Given the description of an element on the screen output the (x, y) to click on. 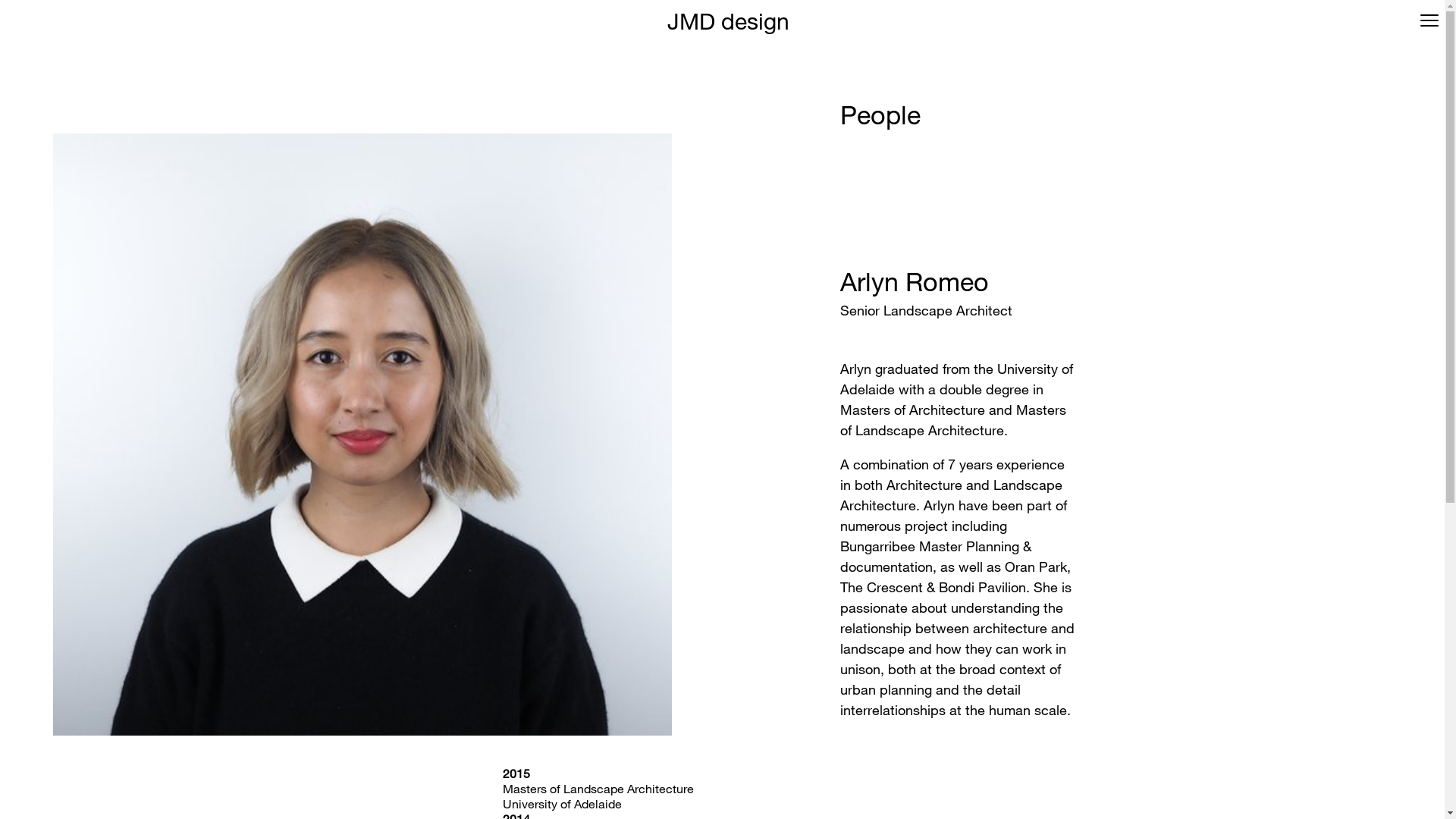
People Element type: text (880, 113)
JMD design Element type: text (728, 20)
